Given the description of an element on the screen output the (x, y) to click on. 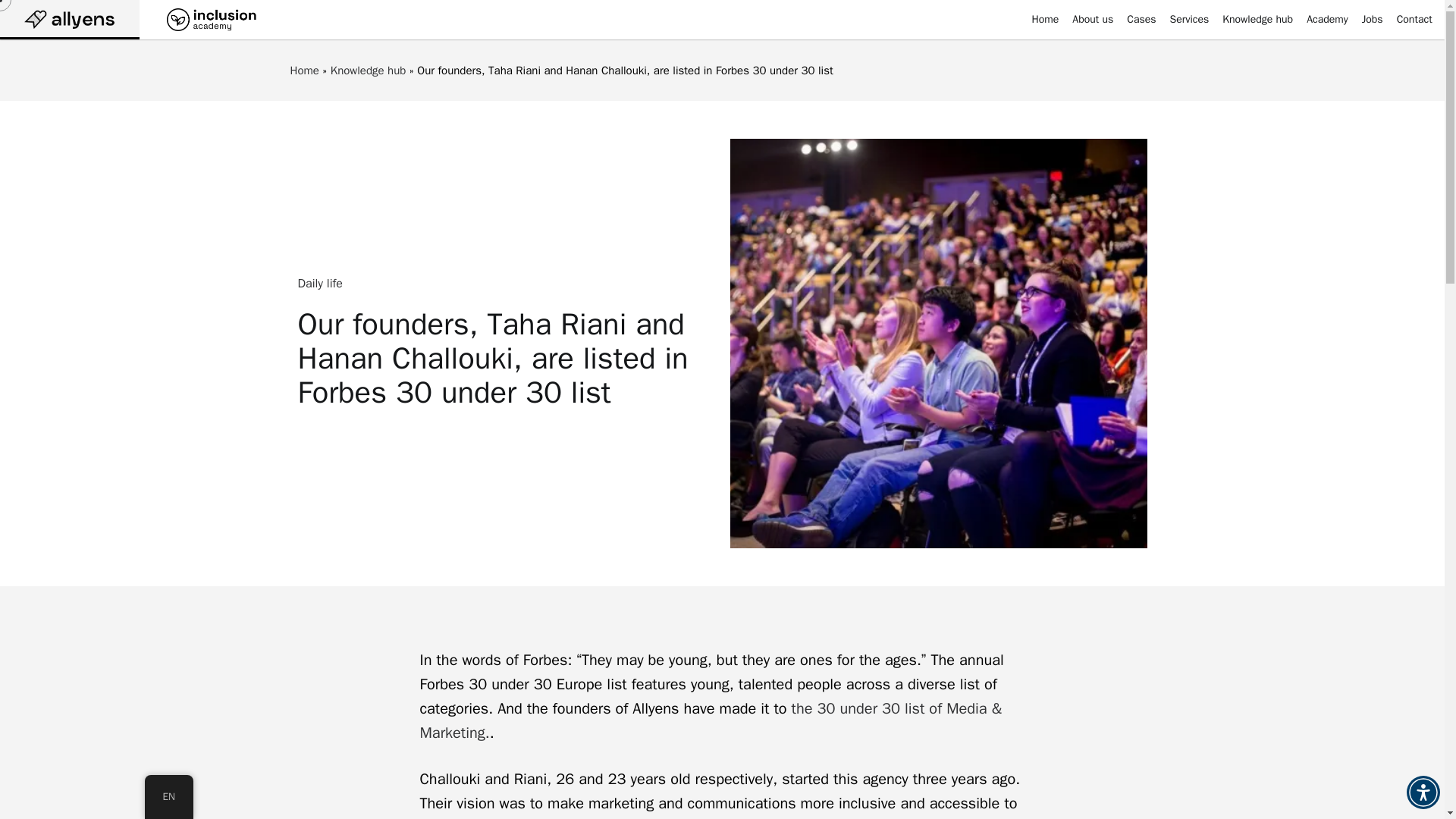
Home (1044, 21)
Cases (1141, 21)
About us (1092, 21)
logo allyens (70, 18)
Jobs (1372, 21)
Knowledge hub (368, 69)
Services (1189, 21)
Contact (1414, 21)
Home (303, 69)
Academy (1327, 21)
Knowledge hub (1257, 21)
Accessibility Menu (1422, 792)
